Given the description of an element on the screen output the (x, y) to click on. 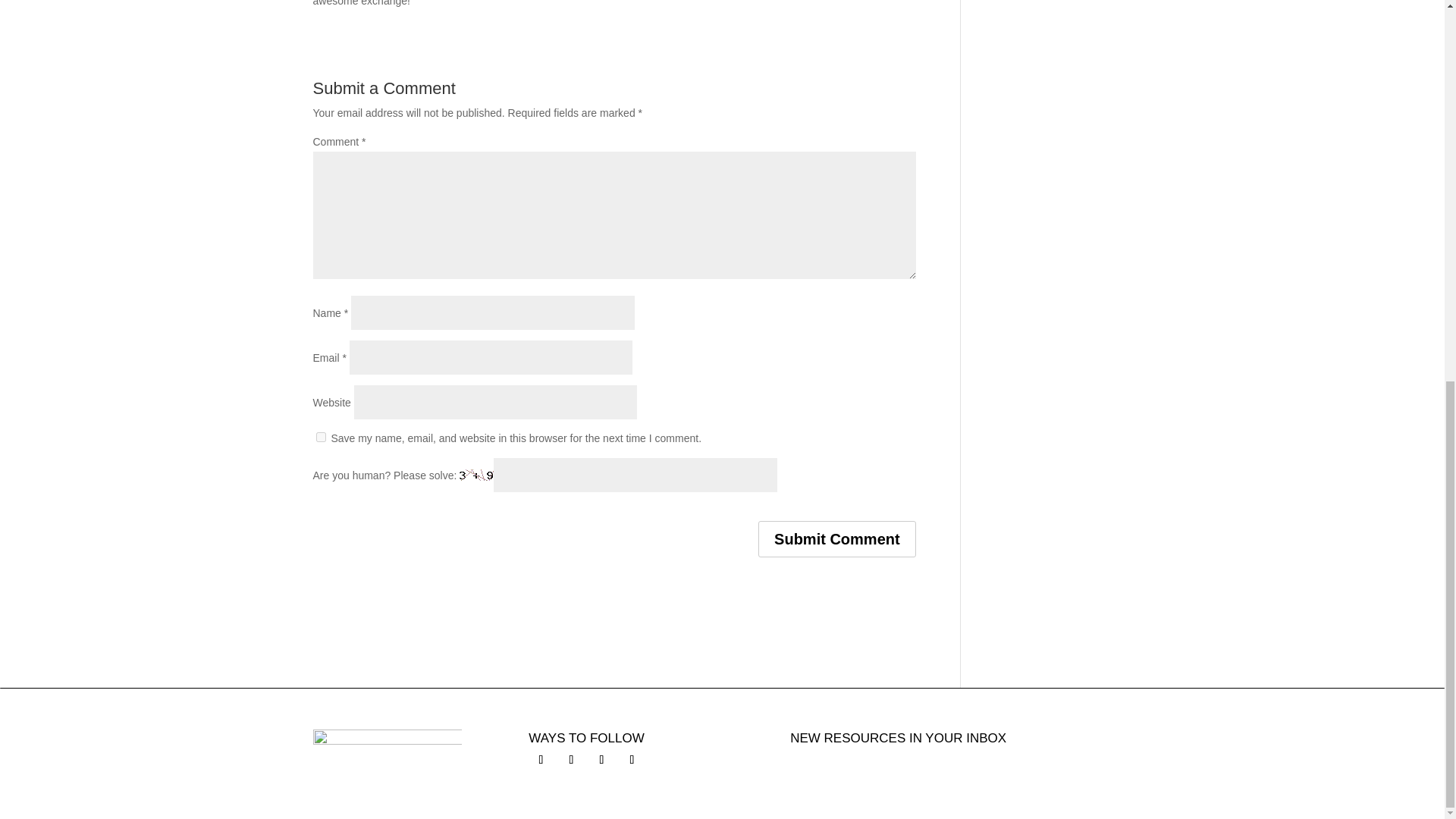
yes (319, 437)
Follow on Instagram (600, 759)
Life In Real Time-Logo (387, 742)
Follow on Facebook (540, 759)
Follow on Youtube (631, 759)
Follow on X (571, 759)
Submit Comment (836, 538)
Submit Comment (836, 538)
